Given the description of an element on the screen output the (x, y) to click on. 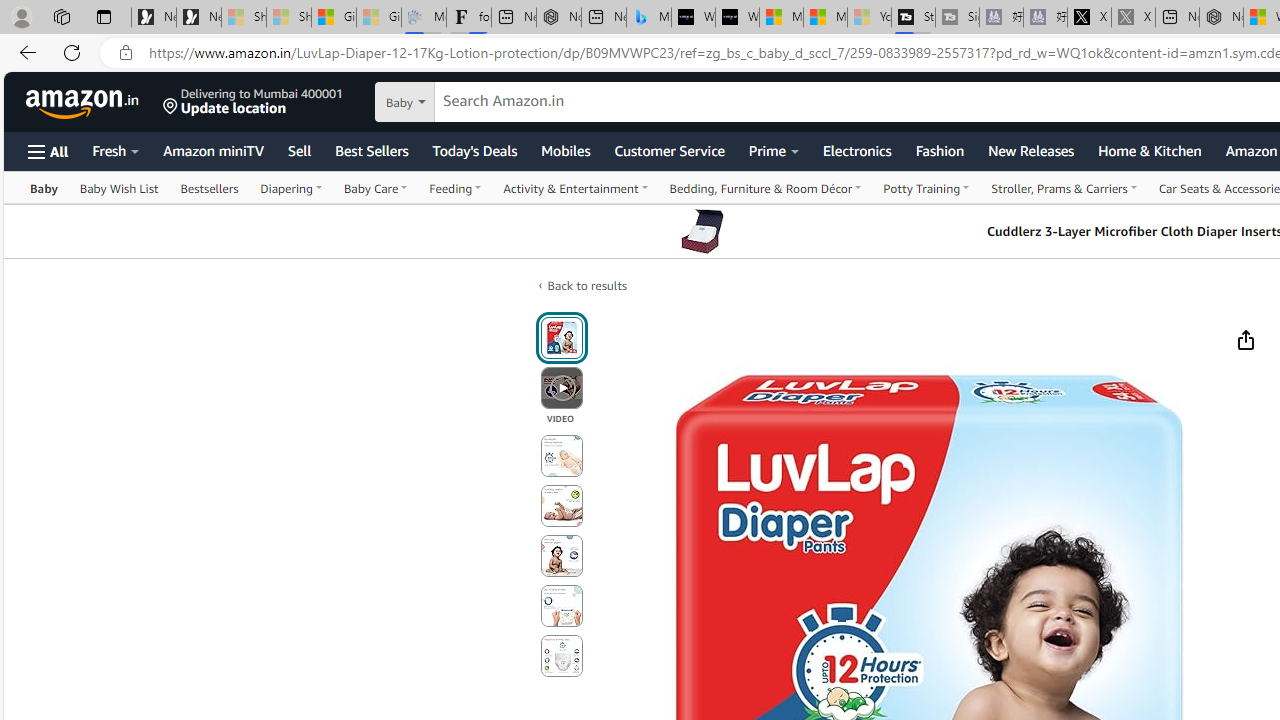
Skip to main content (86, 100)
Nordace - My Account (1220, 17)
Best Sellers (371, 150)
Share (1245, 340)
Fresh (115, 150)
Prime (773, 150)
Bestsellers (208, 187)
Electronics (856, 150)
